Given the description of an element on the screen output the (x, y) to click on. 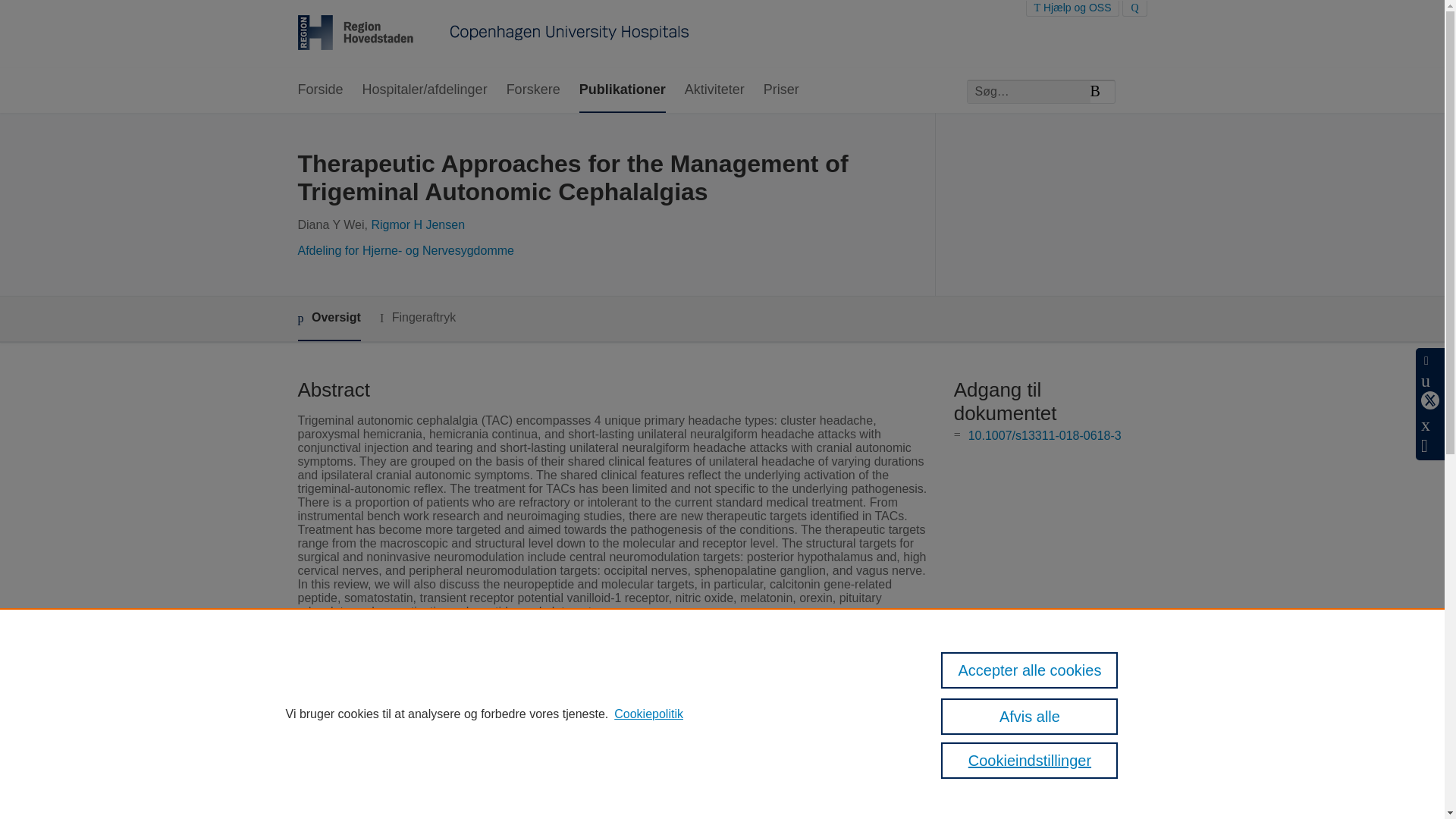
Region Hovedstadens forskningsportal Forside (492, 34)
Afdeling for Hjerne- og Nervesygdomme (405, 250)
Forside (319, 90)
Fingeraftryk (417, 317)
Oversigt (328, 318)
Publikationer (622, 90)
Rigmor H Jensen (417, 224)
Forskere (533, 90)
